Given the description of an element on the screen output the (x, y) to click on. 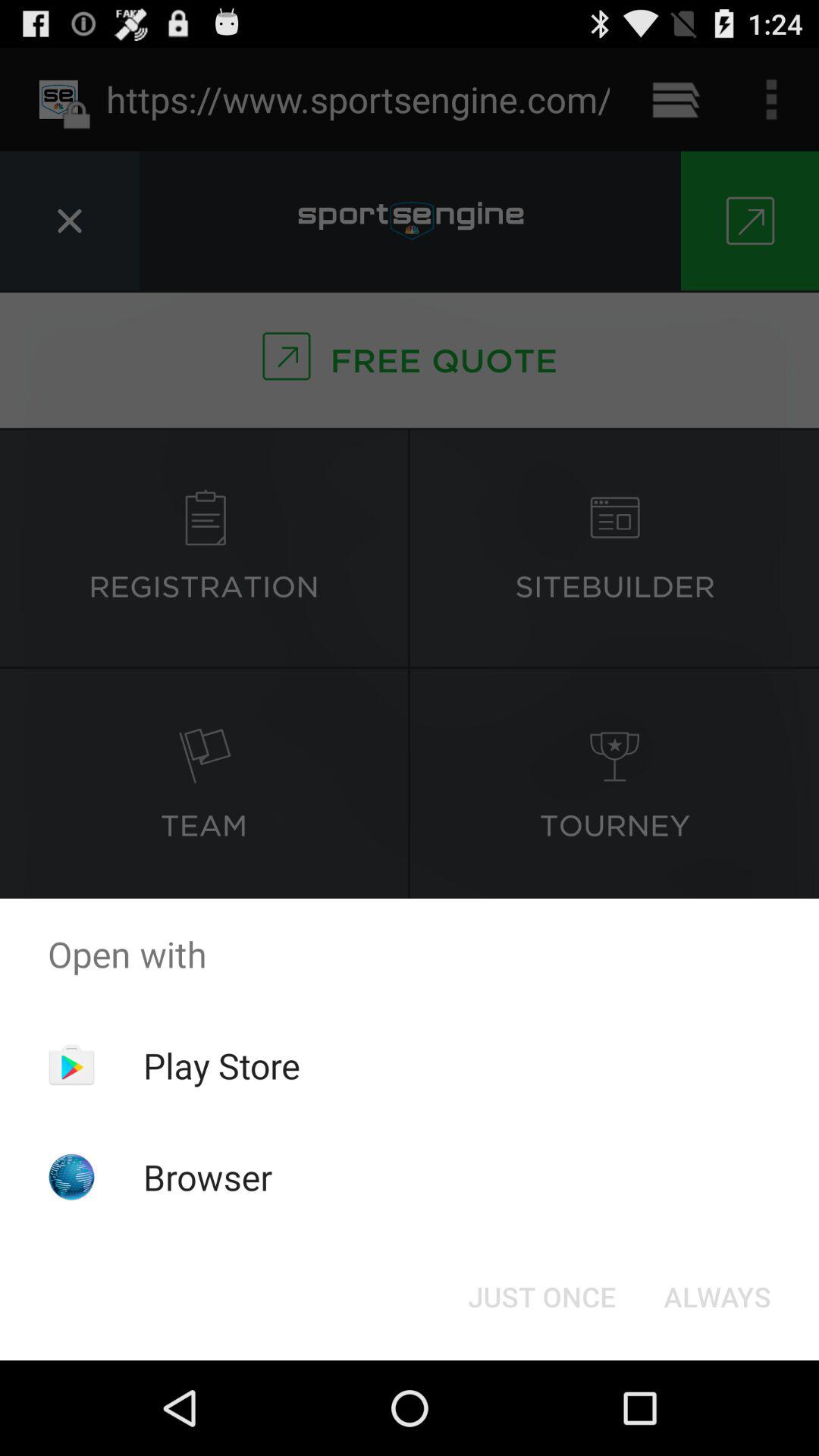
flip until the always button (717, 1296)
